Given the description of an element on the screen output the (x, y) to click on. 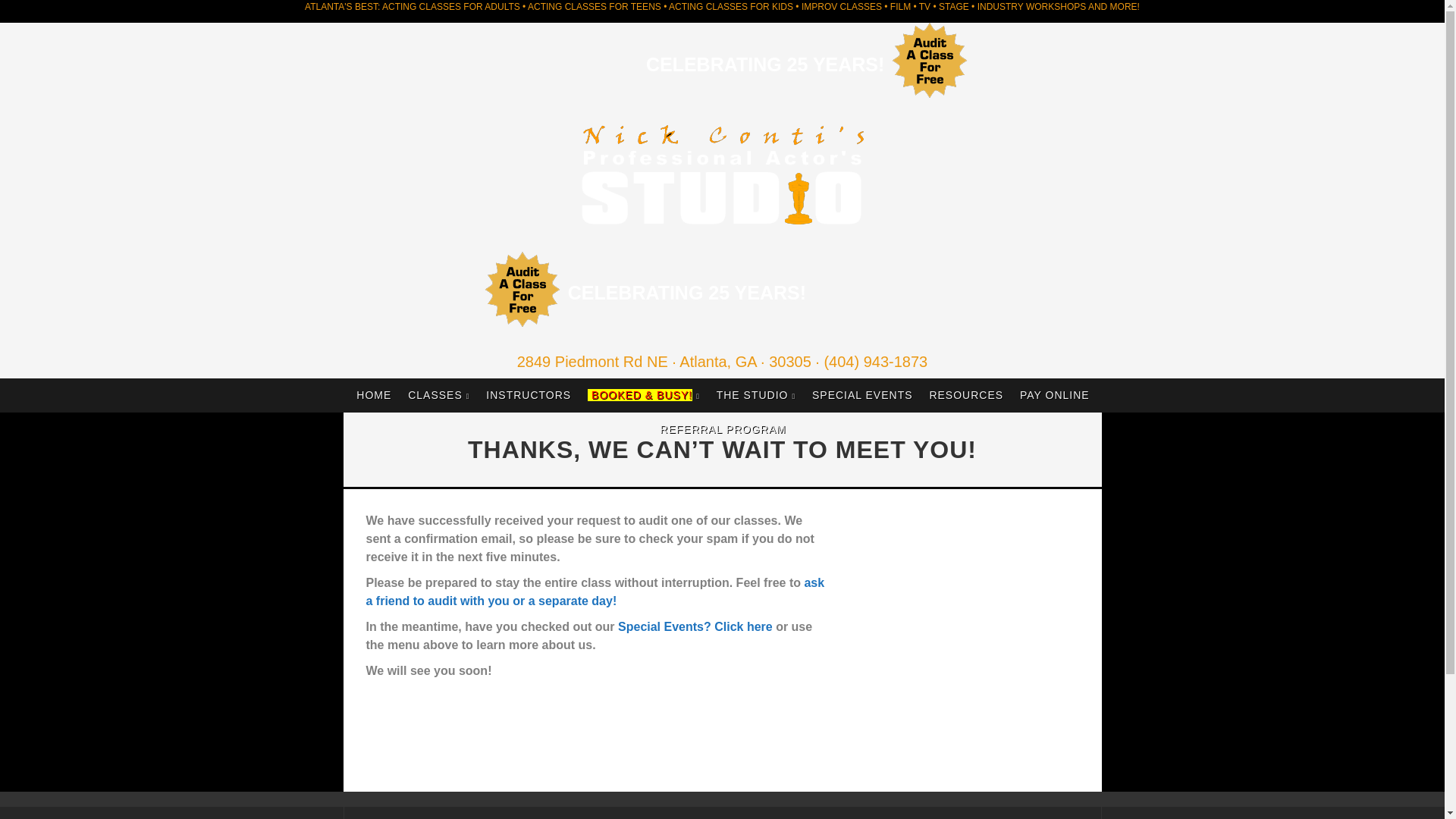
CELEBRATING 25 YEARS! (686, 292)
CELEBRATING 25 YEARS! (764, 63)
CLASSES (438, 395)
HOME (373, 395)
